Given the description of an element on the screen output the (x, y) to click on. 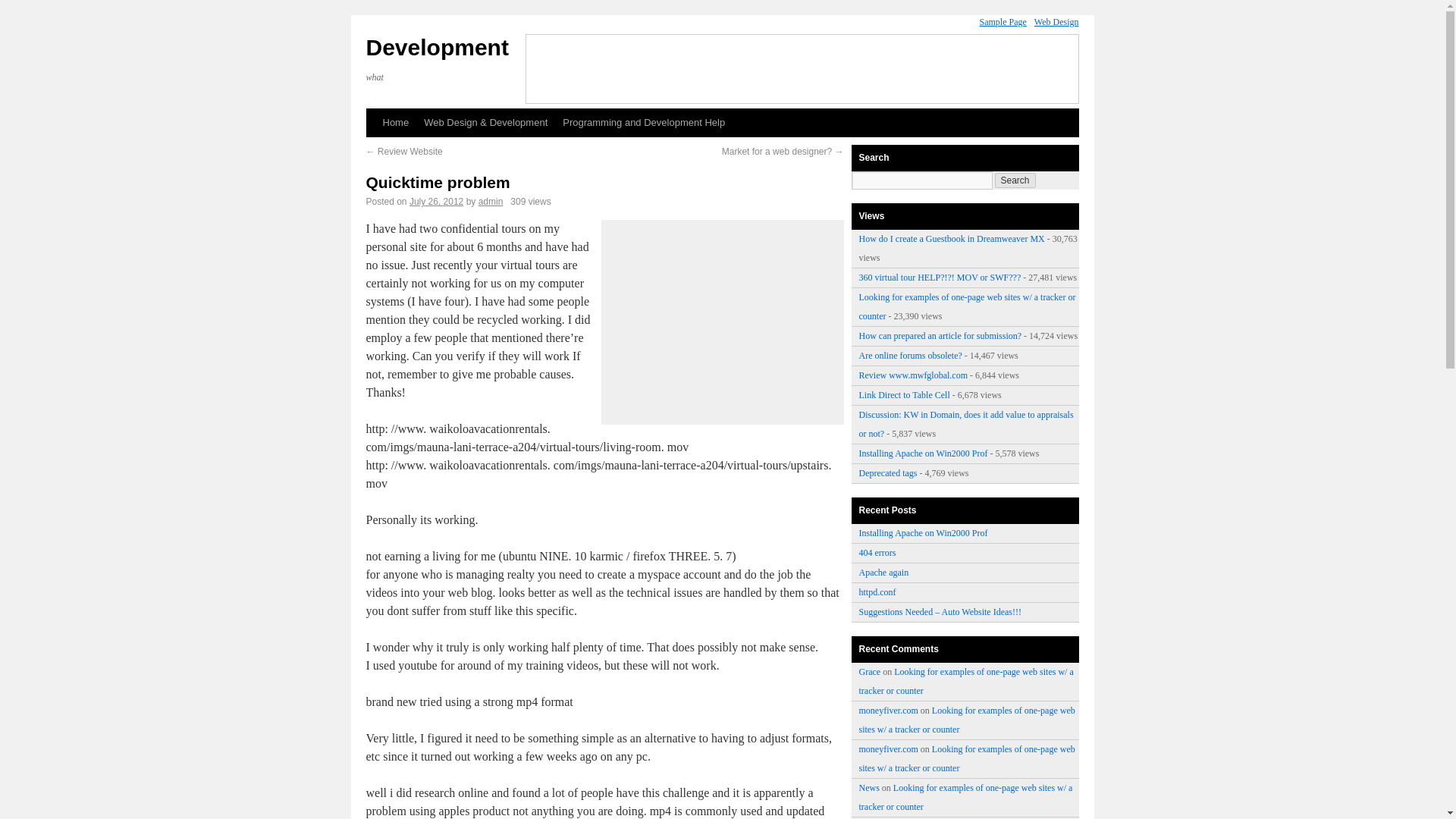
admin (491, 201)
How do I create a Guestbook in Dreamweaver MX (951, 238)
Development (436, 47)
Programming and Development Help (643, 122)
Home (395, 122)
July 26, 2012 (436, 201)
View all posts by admin (491, 201)
Web Design (1055, 21)
Sample Page (1002, 21)
Development (436, 47)
Search (1014, 180)
1:20 pm (436, 201)
